Given the description of an element on the screen output the (x, y) to click on. 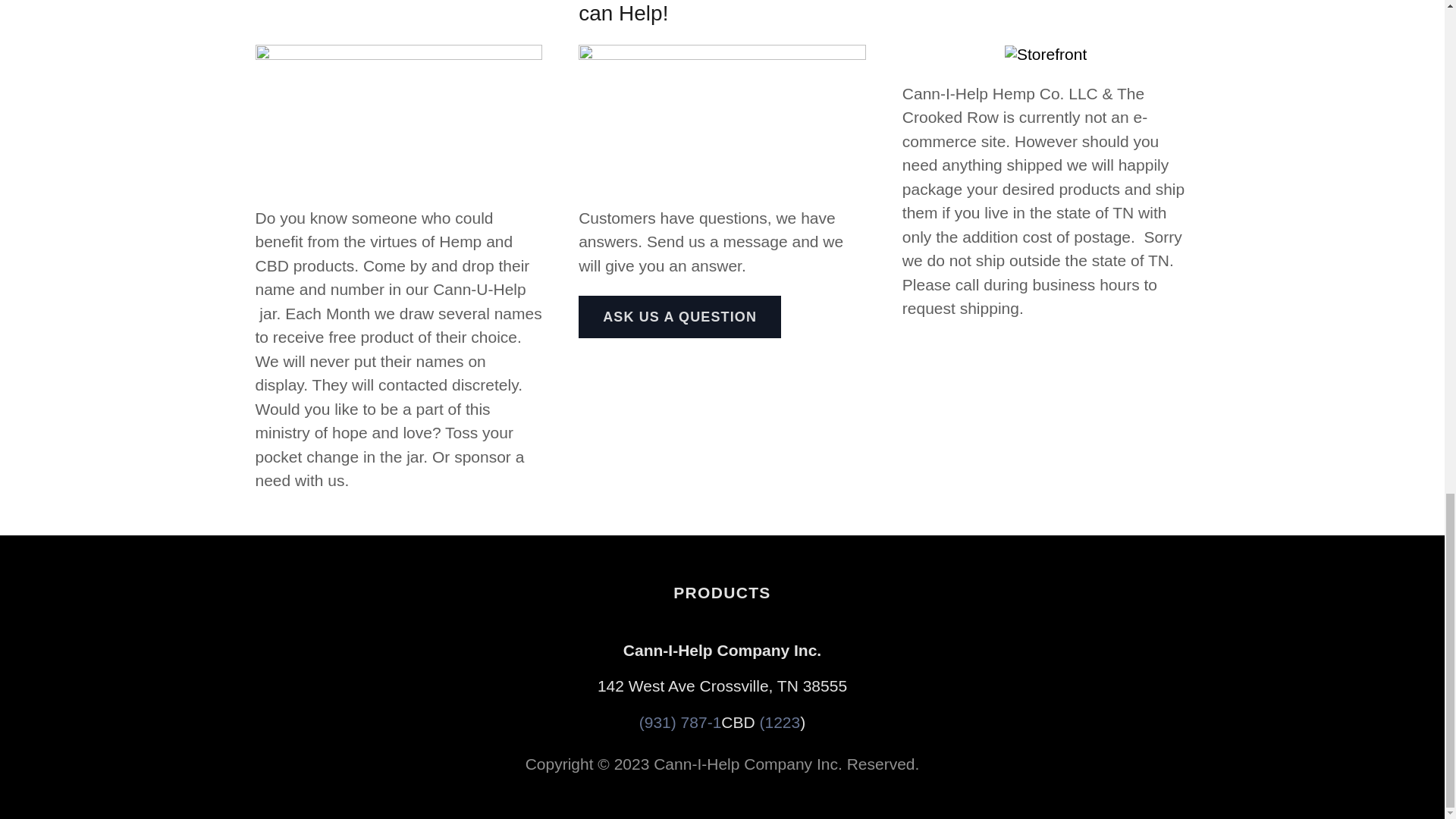
PRODUCTS (721, 593)
ASK US A QUESTION (679, 316)
